Given the description of an element on the screen output the (x, y) to click on. 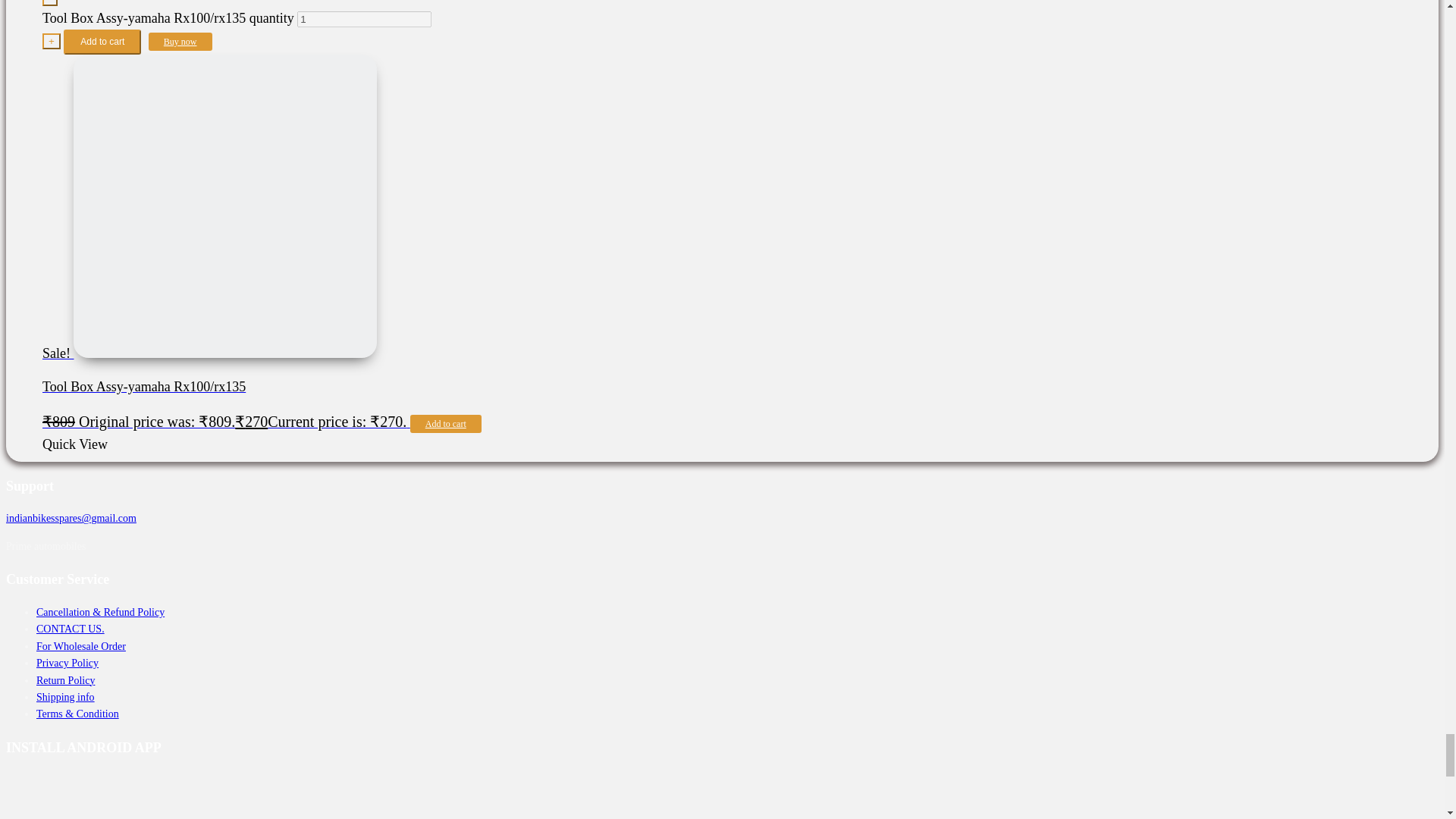
1 (363, 19)
